Given the description of an element on the screen output the (x, y) to click on. 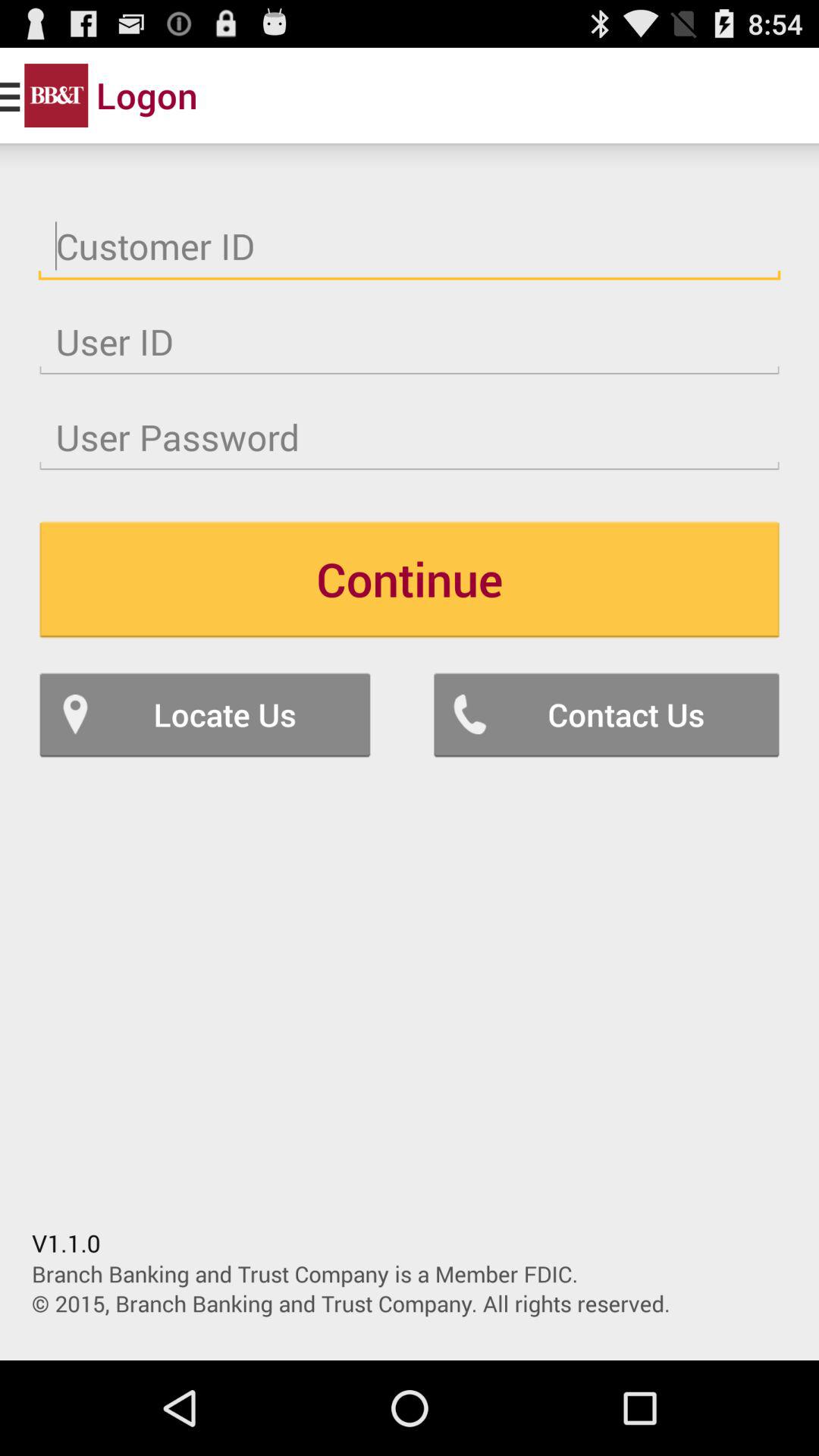
choose the icon above the branch banking and (606, 714)
